Given the description of an element on the screen output the (x, y) to click on. 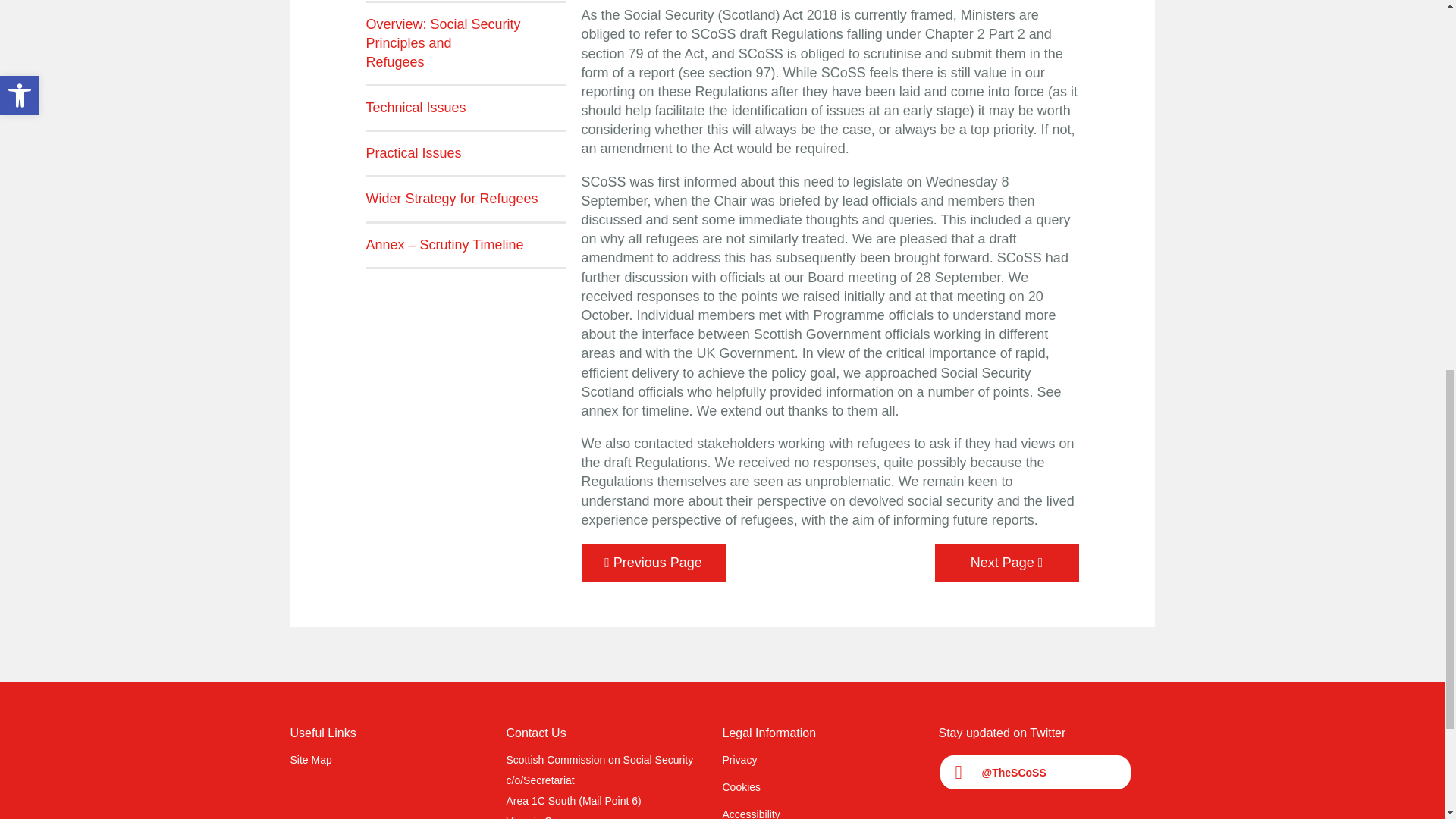
Introduction (652, 562)
